Given the description of an element on the screen output the (x, y) to click on. 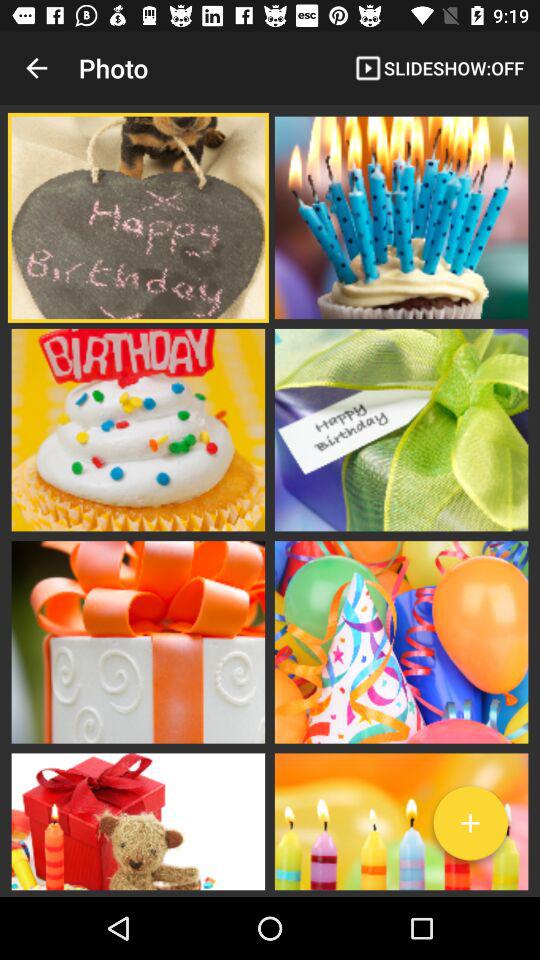
open icon next to photo app (36, 68)
